Given the description of an element on the screen output the (x, y) to click on. 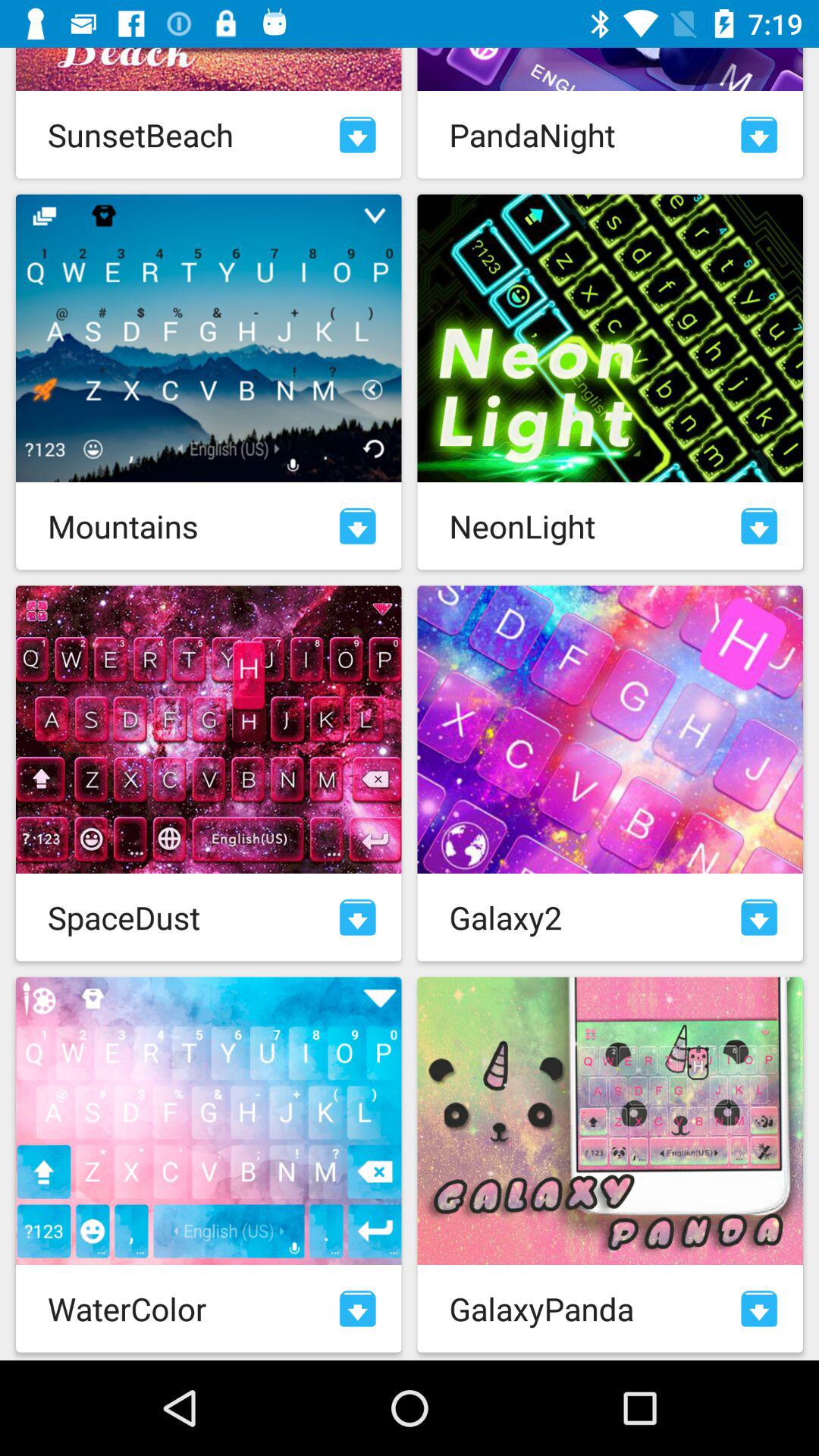
download watercolor theme (357, 1308)
